Given the description of an element on the screen output the (x, y) to click on. 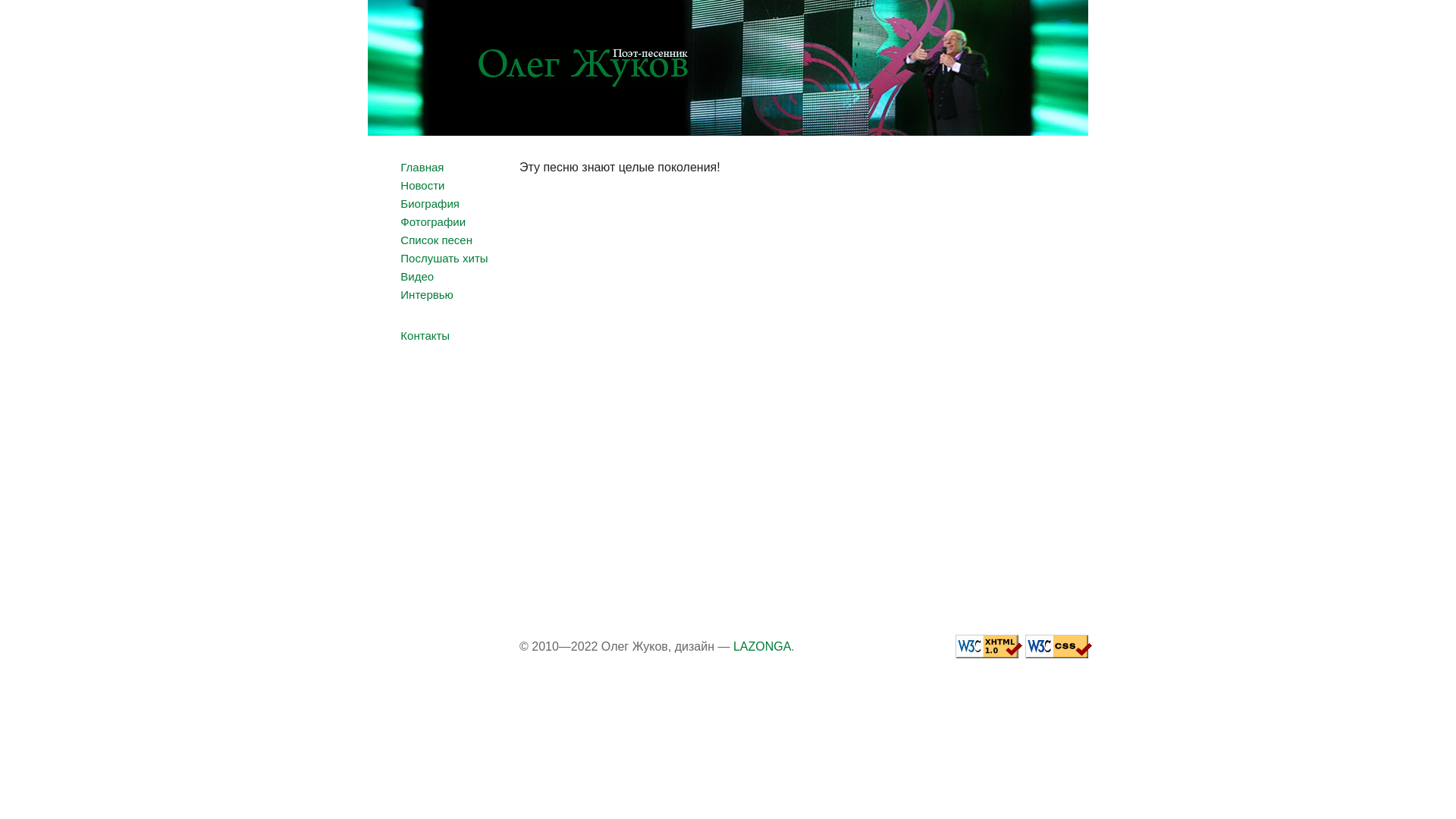
LAZONGA Element type: text (761, 646)
YouTube video player Element type: hover (784, 402)
